Given the description of an element on the screen output the (x, y) to click on. 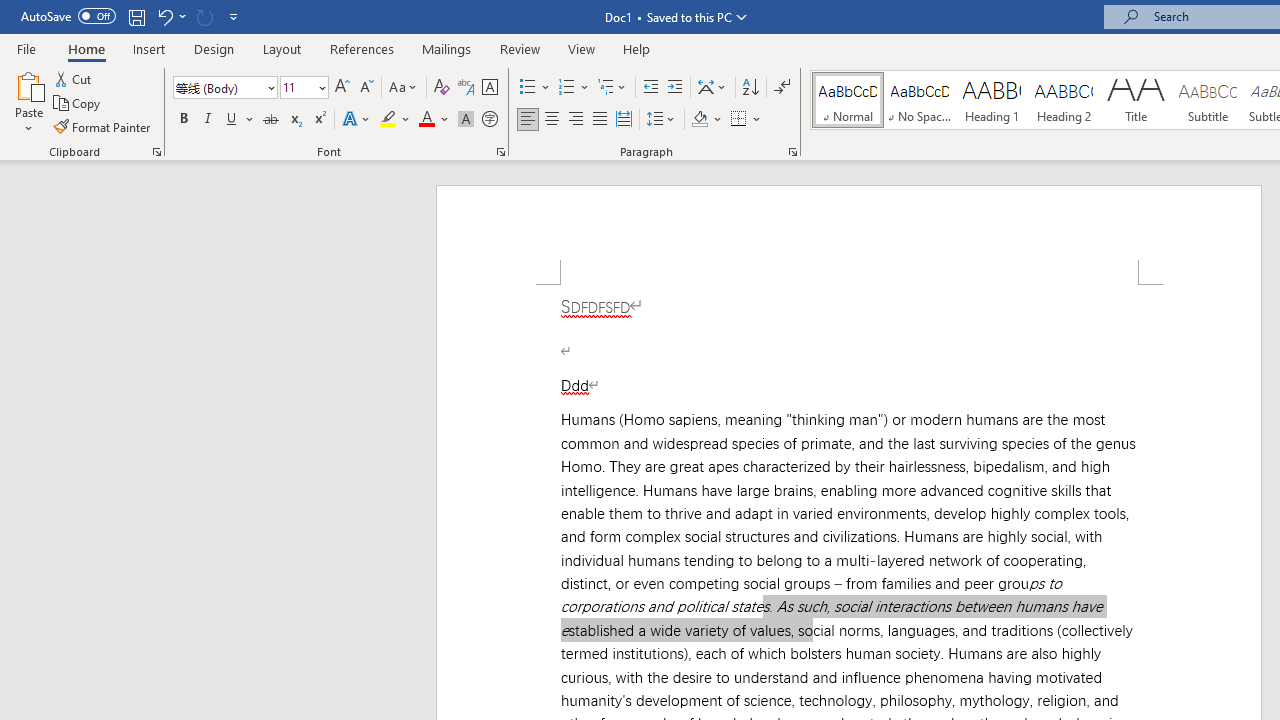
Show/Hide Editing Marks (781, 87)
Center (552, 119)
Enclose Characters... (489, 119)
Font... (500, 151)
Heading 2 (1063, 100)
Format Painter (103, 126)
Align Right (575, 119)
Office Clipboard... (156, 151)
Text Effects and Typography (357, 119)
